Given the description of an element on the screen output the (x, y) to click on. 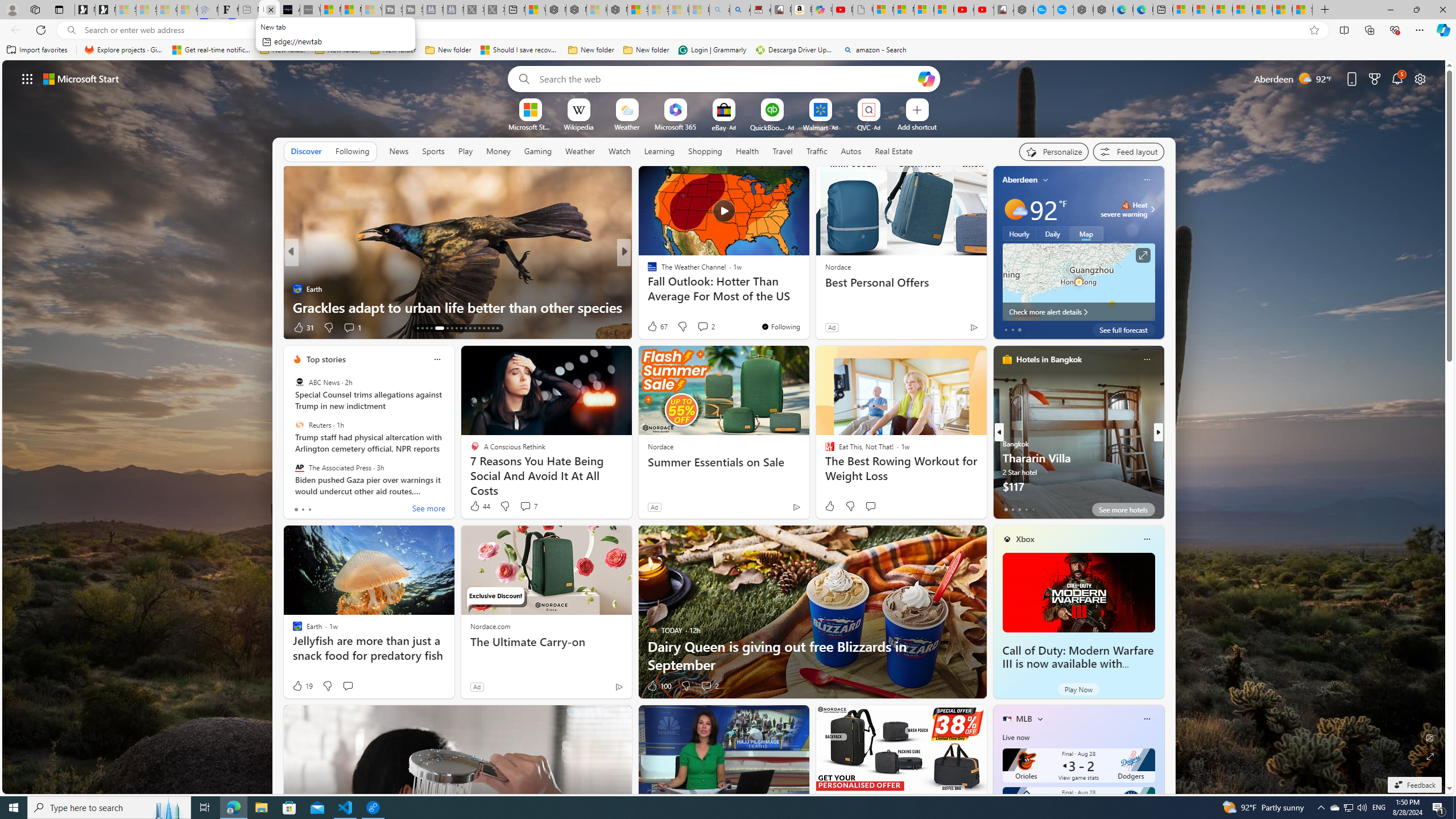
Close tab (270, 9)
Feedback (1414, 784)
AutomationID: tab-18 (422, 328)
Edit Background (1430, 737)
News (398, 151)
Reuters (299, 424)
Check more alert details (1077, 311)
Address and search bar (692, 29)
tab-2 (1019, 509)
Import favorites (36, 49)
67 Like (657, 326)
